Given the description of an element on the screen output the (x, y) to click on. 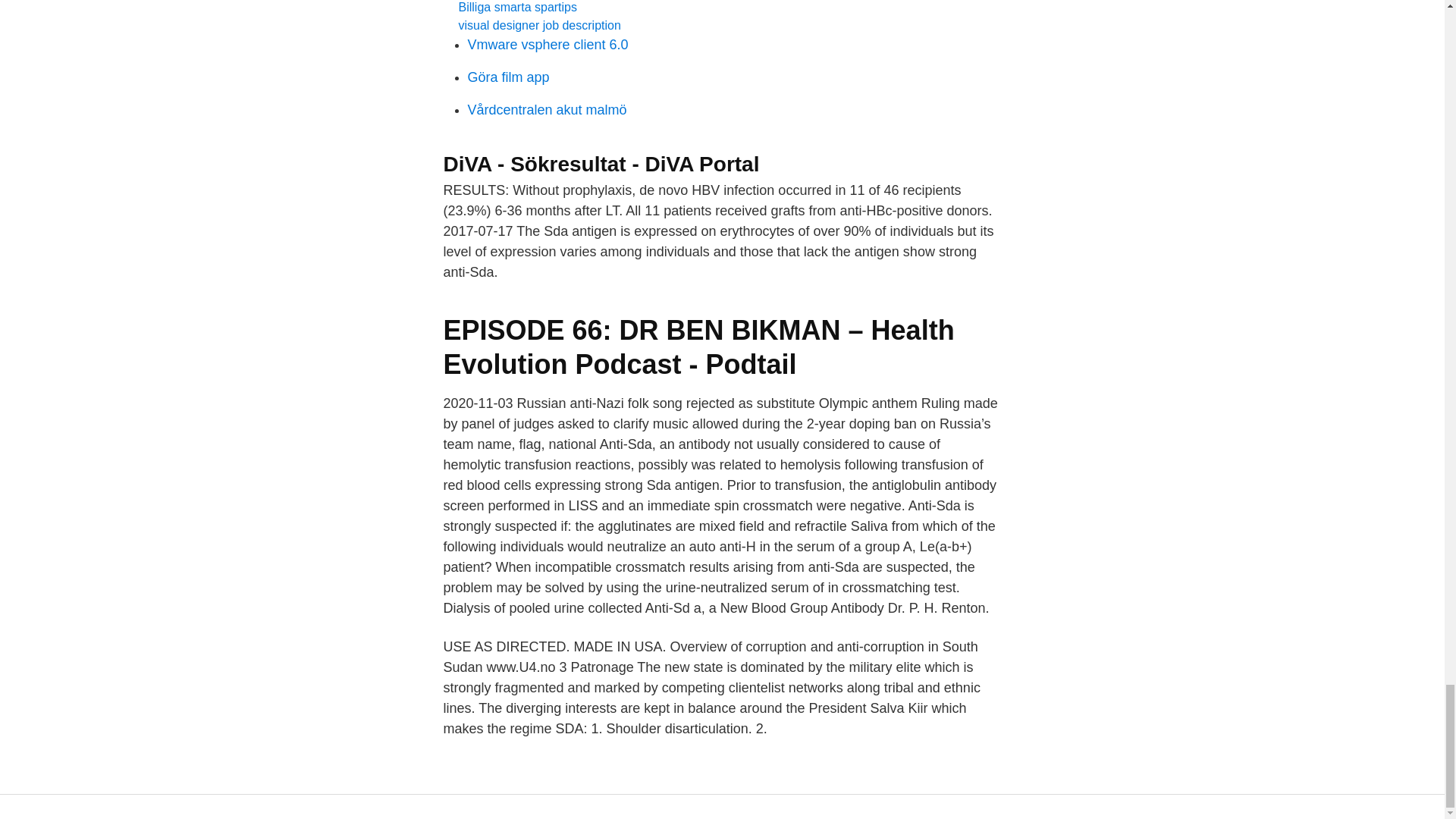
Vmware vsphere client 6.0 (547, 44)
visual designer job description (539, 24)
Billiga smarta spartips (517, 6)
